Given the description of an element on the screen output the (x, y) to click on. 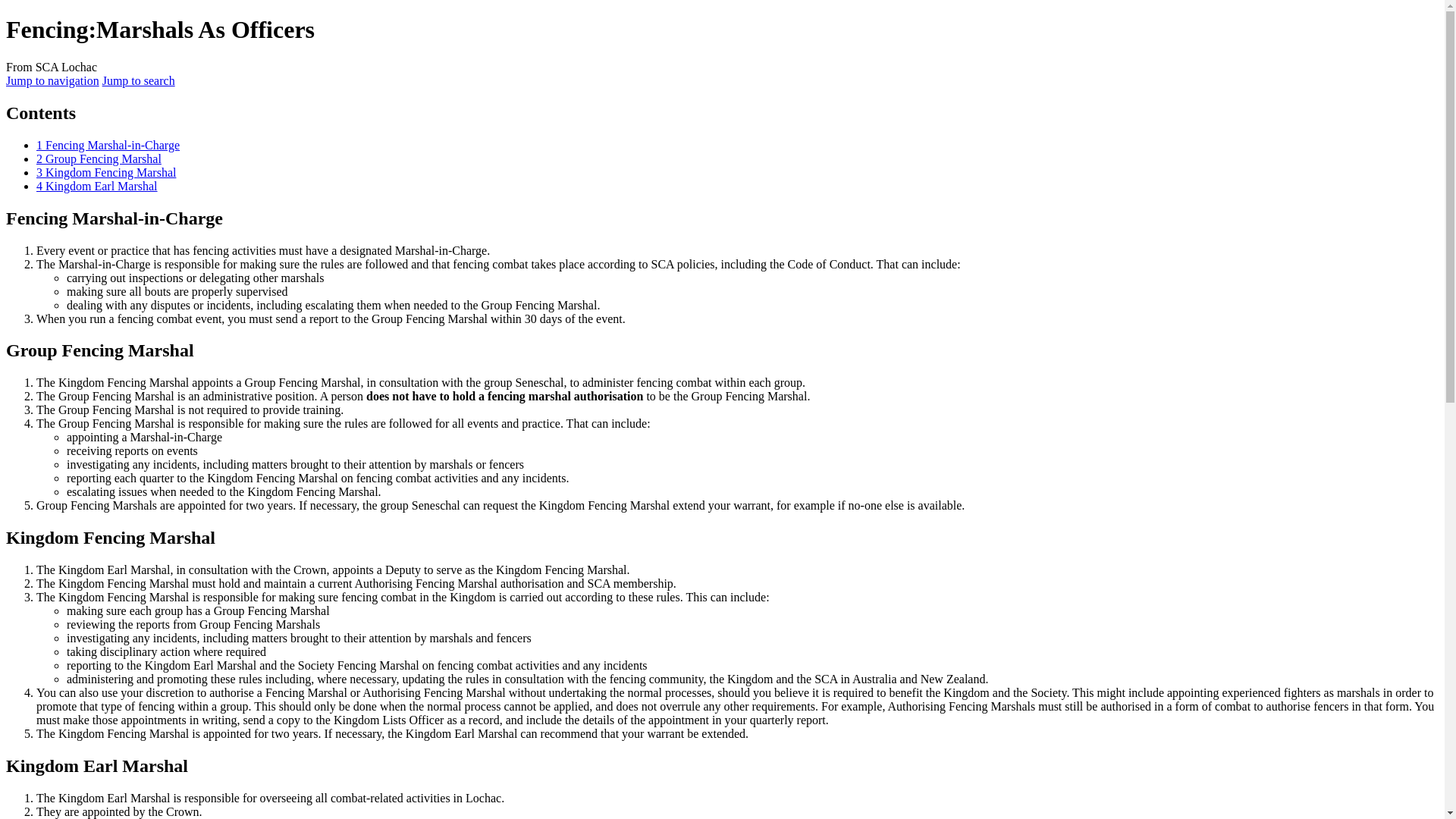
Jump to navigation (52, 80)
3 Kingdom Fencing Marshal (106, 172)
1 Fencing Marshal-in-Charge (107, 144)
Jump to search (137, 80)
4 Kingdom Earl Marshal (96, 185)
2 Group Fencing Marshal (98, 158)
